Given the description of an element on the screen output the (x, y) to click on. 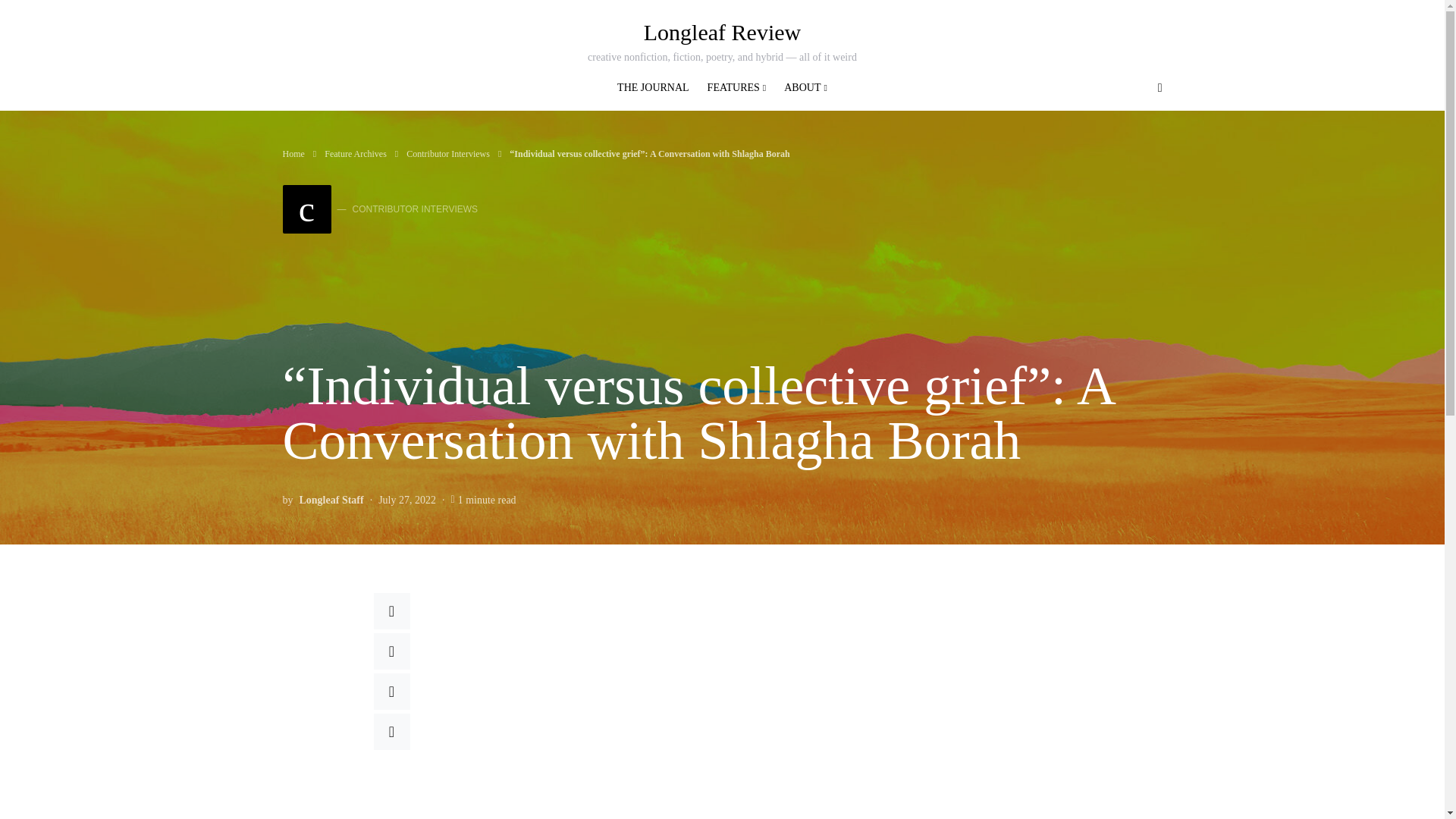
ABOUT (800, 87)
THE JOURNAL (657, 87)
FEATURES (737, 87)
Contributor Interviews (447, 153)
View all posts by Longleaf Staff (330, 498)
Feature Archives (355, 153)
Home (293, 153)
Longleaf Review (379, 209)
Longleaf Staff (722, 32)
